Given the description of an element on the screen output the (x, y) to click on. 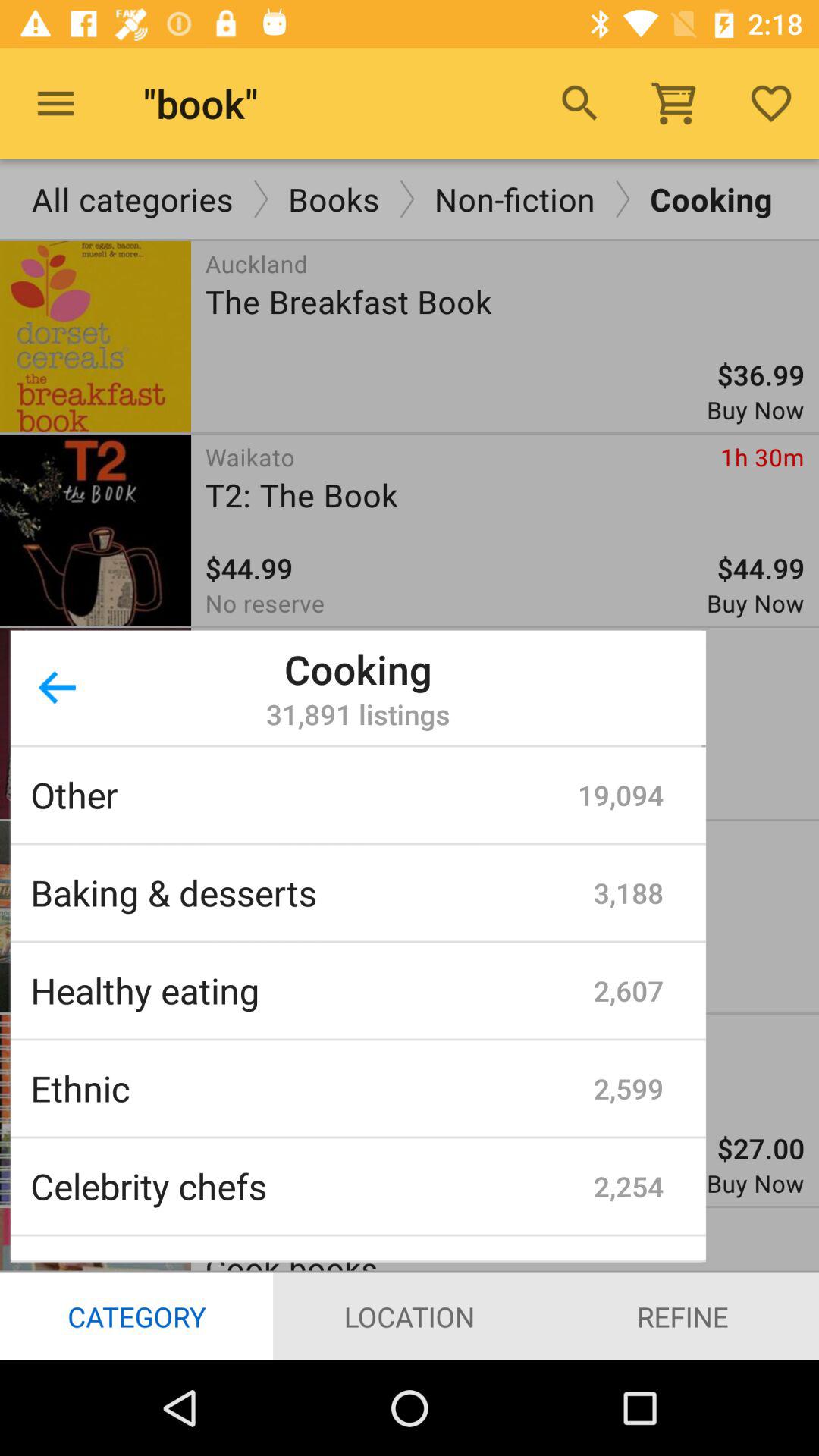
jump to the other (303, 794)
